Given the description of an element on the screen output the (x, y) to click on. 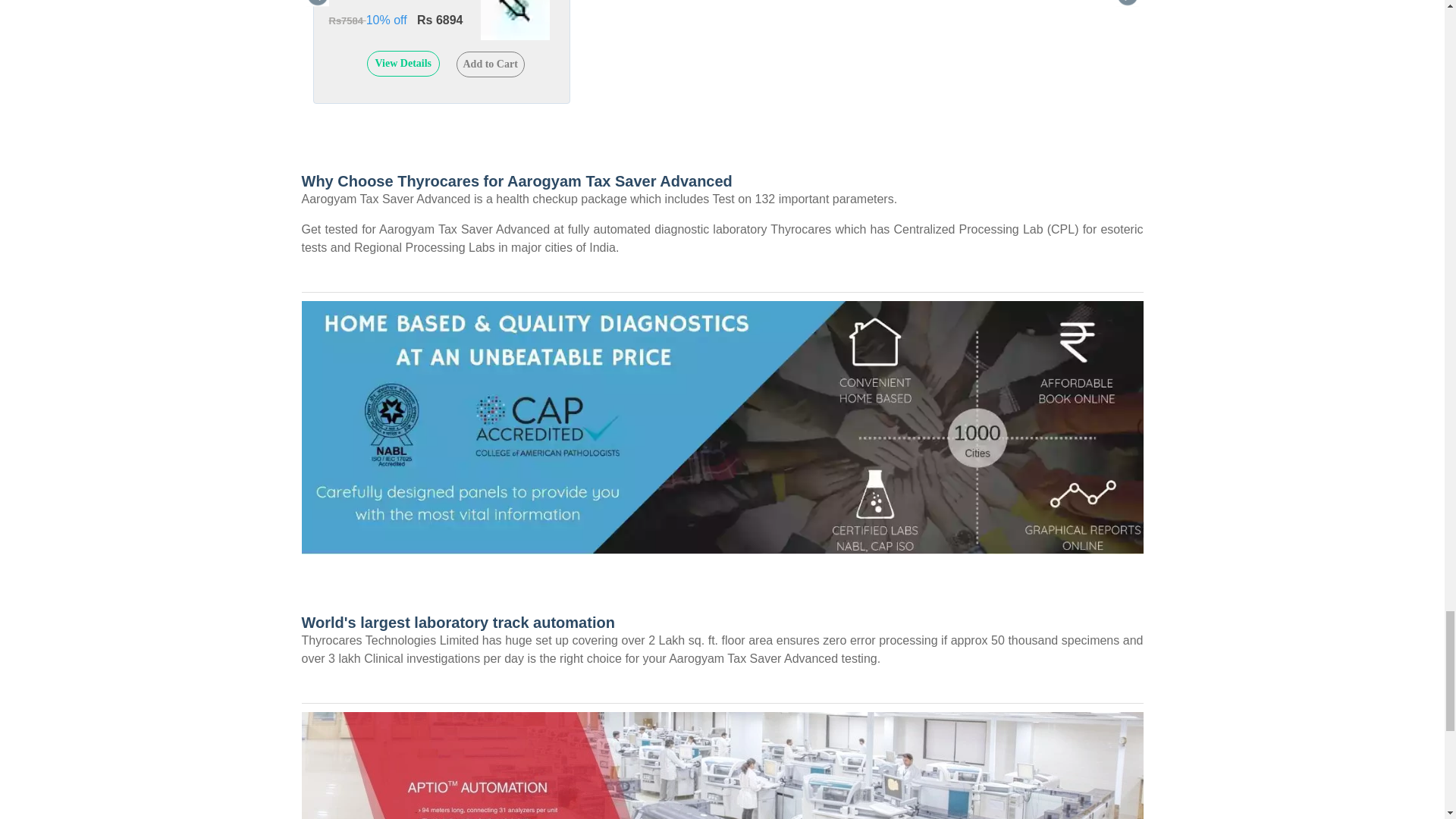
Add to Cart (490, 63)
View Details (403, 63)
